Given the description of an element on the screen output the (x, y) to click on. 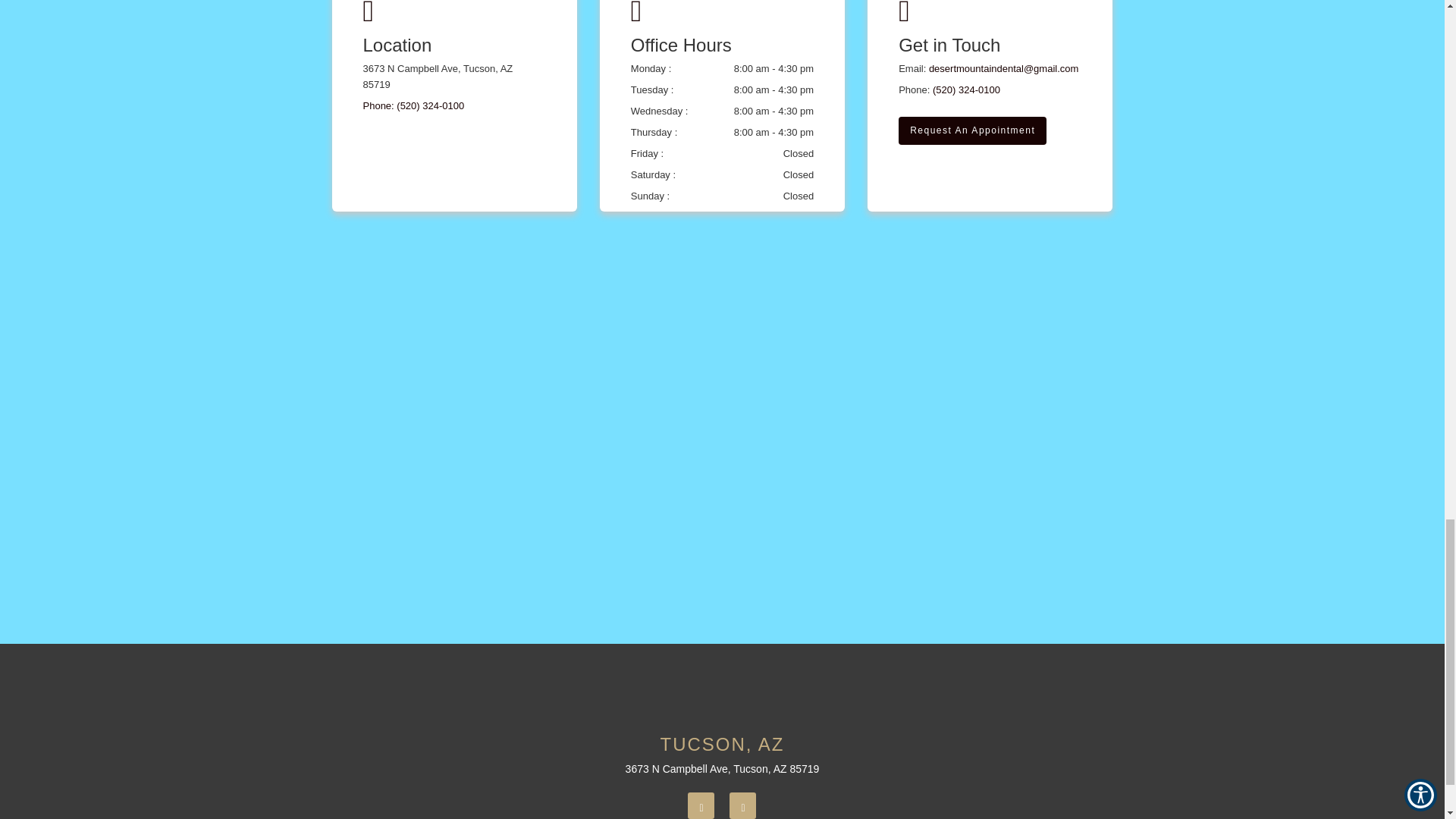
Desert Mountain Dental (721, 688)
